Given the description of an element on the screen output the (x, y) to click on. 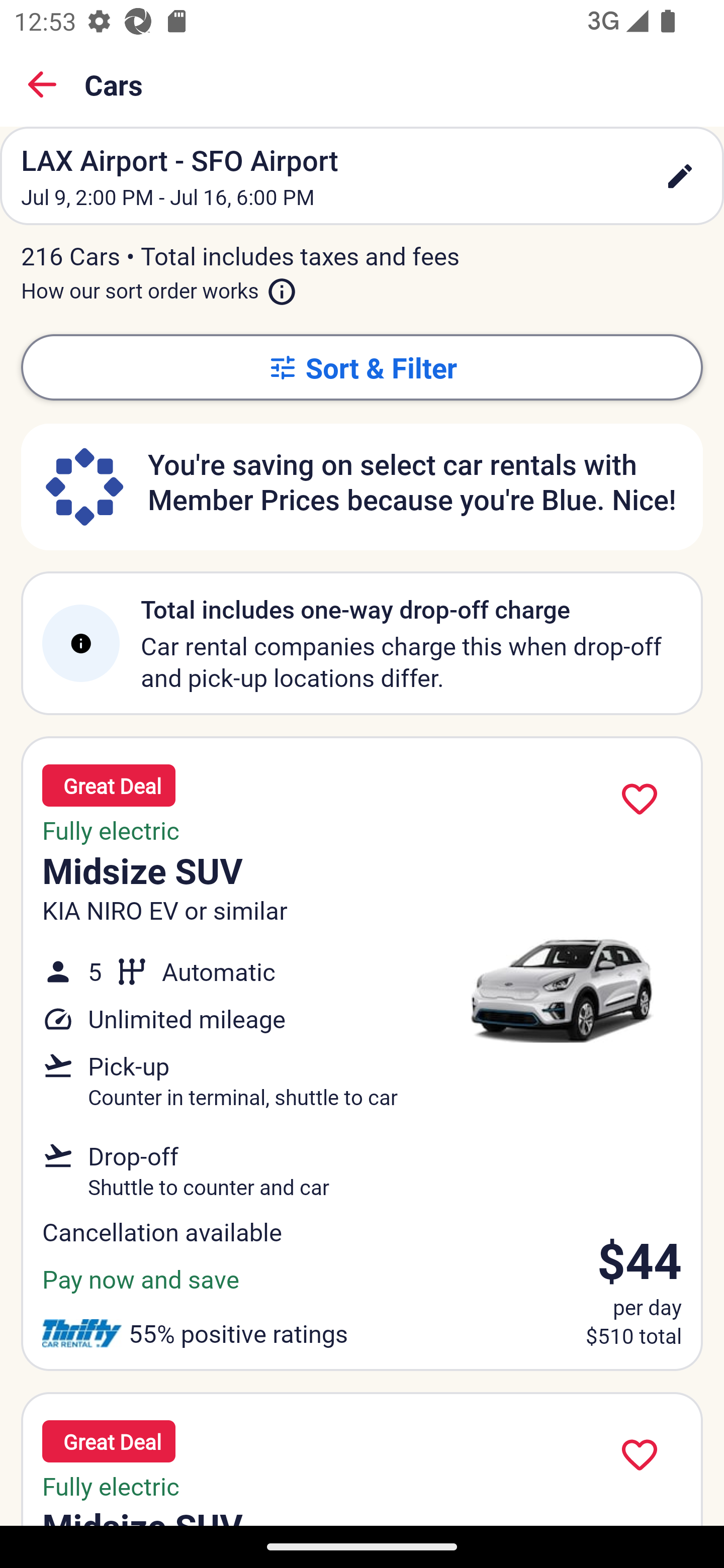
Back (42, 84)
edit (679, 175)
How our sort order works (158, 286)
Sort & Filter (361, 366)
